Given the description of an element on the screen output the (x, y) to click on. 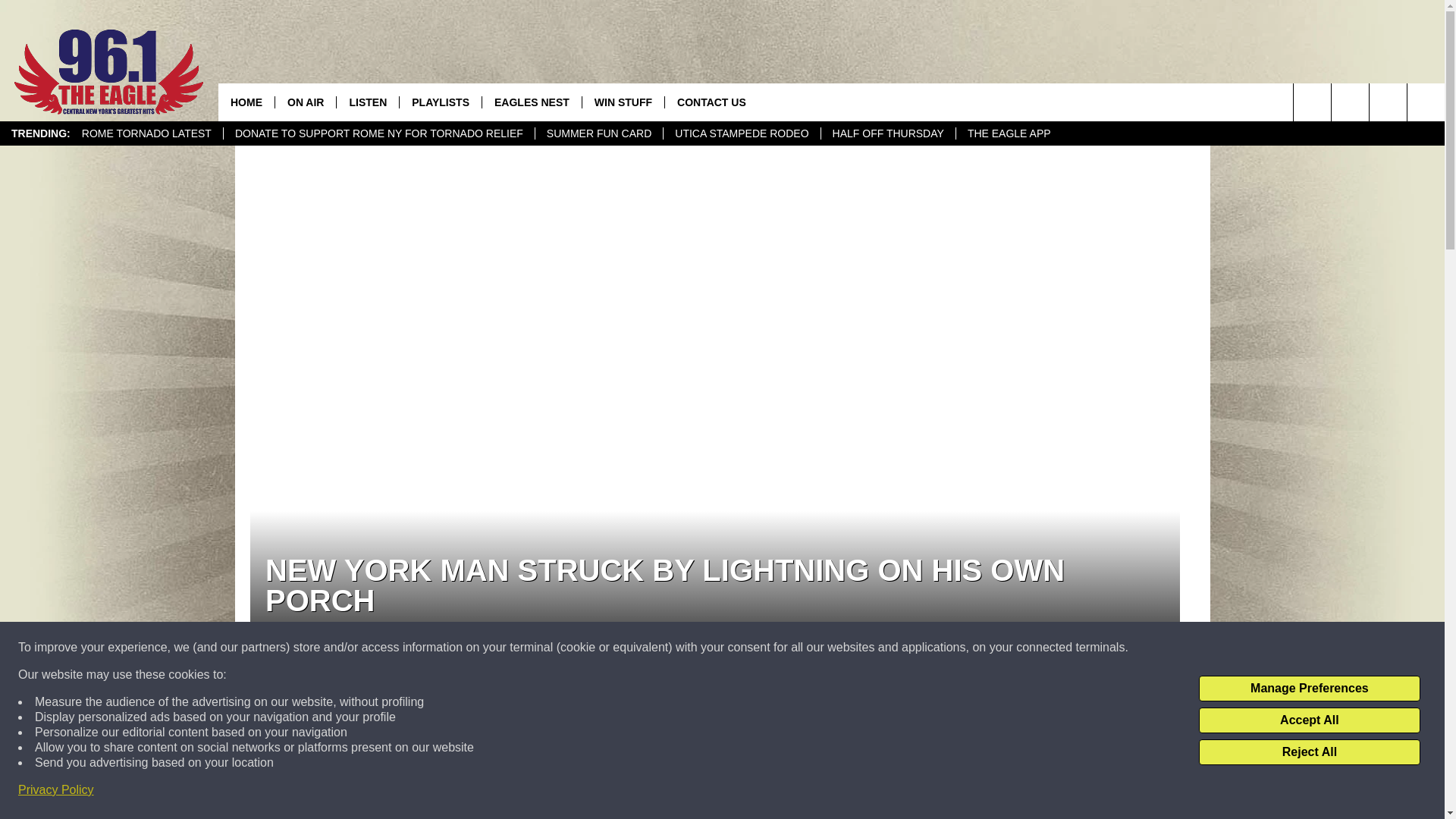
UTICA STAMPEDE RODEO (740, 133)
EAGLES NEST (530, 102)
THE EAGLE APP (1008, 133)
ON AIR (305, 102)
LISTEN (367, 102)
Privacy Policy (55, 789)
Manage Preferences (1309, 688)
CONTACT US (710, 102)
DONATE TO SUPPORT ROME NY FOR TORNADO RELIEF (378, 133)
Accept All (1309, 720)
WIN STUFF (621, 102)
SUMMER FUN CARD (598, 133)
PLAYLISTS (439, 102)
HALF OFF THURSDAY (888, 133)
Reject All (1309, 751)
